Given the description of an element on the screen output the (x, y) to click on. 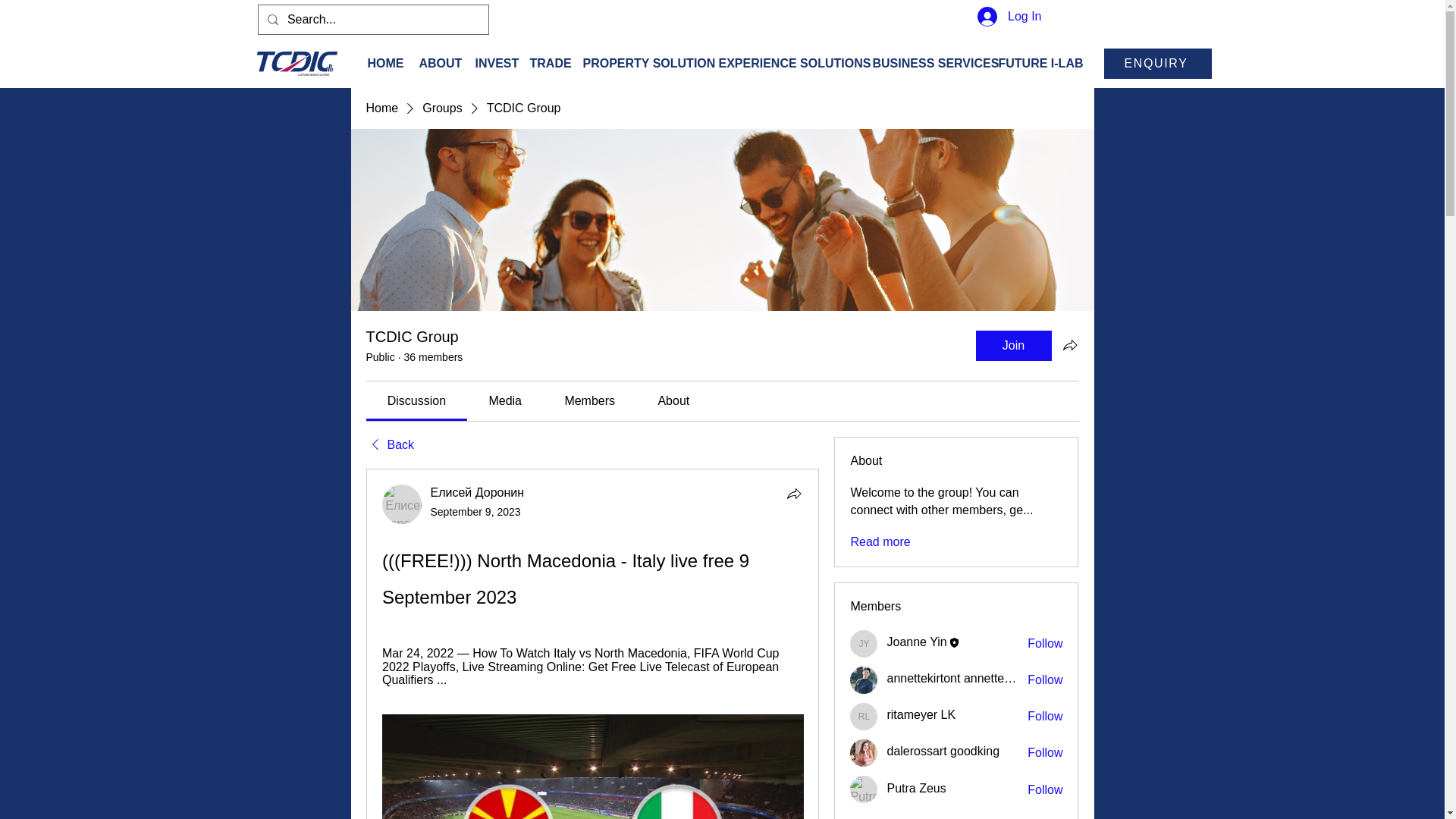
Log In (1008, 16)
ABOUT (438, 63)
dalerossart goodking (863, 752)
PROPERTY SOLUTION (642, 63)
Putra Zeus (863, 789)
BUSINESS SERVICES (927, 63)
Joanne Yin (916, 641)
Join (1013, 345)
FUTURE I-LAB (1035, 63)
annettekirtont annettekirtont (863, 679)
EXPERIENCE SOLUTIONS (787, 63)
ritameyer LK (863, 716)
TRADE (548, 63)
September 9, 2023 (475, 511)
INVEST (494, 63)
